Given the description of an element on the screen output the (x, y) to click on. 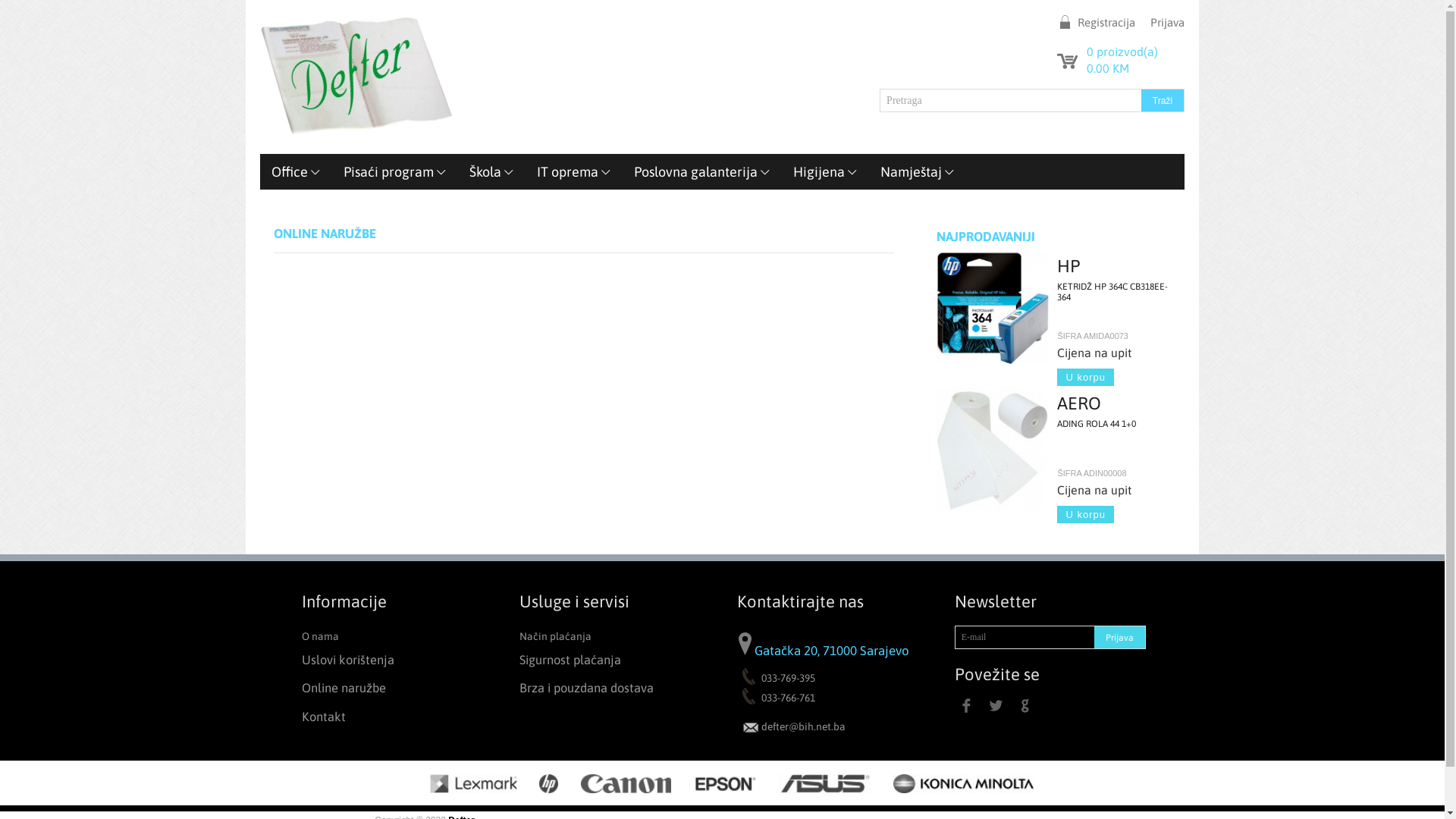
U korpu Element type: text (1085, 514)
0.00 KM Element type: text (1107, 67)
Higijena  Element type: text (825, 171)
Prijava Element type: text (1119, 637)
O nama Element type: text (390, 635)
Prijava Element type: text (1159, 22)
Registracija Element type: text (1098, 22)
Poslovna galanterija  Element type: text (701, 171)
Office  Element type: text (296, 171)
U korpu Element type: text (1085, 376)
Brza i pouzdana dostava Element type: text (607, 688)
IT oprema  Element type: text (573, 171)
0 proizvod(a) Element type: text (1121, 51)
Kontakt Element type: text (390, 716)
